Given the description of an element on the screen output the (x, y) to click on. 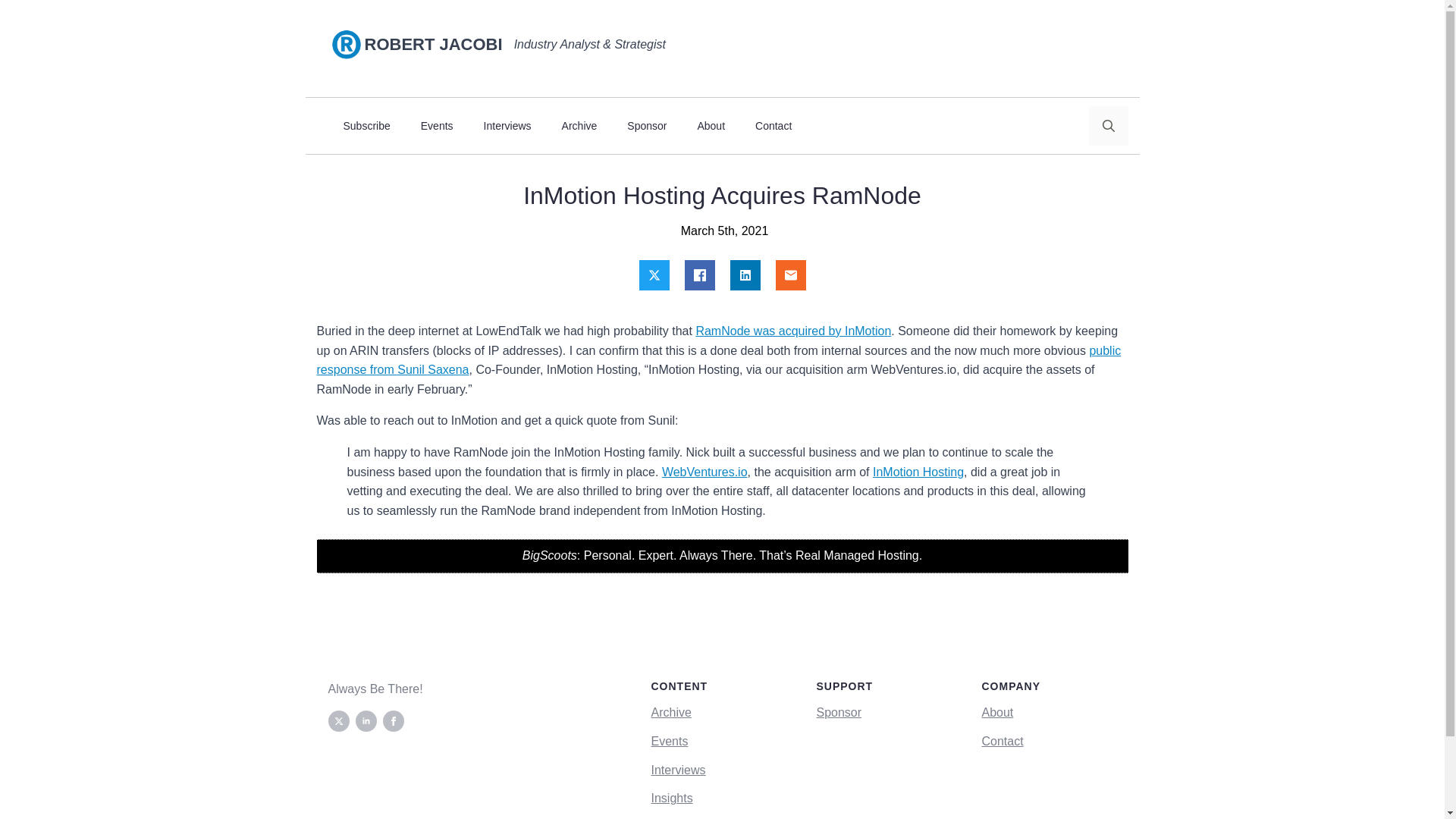
Events (437, 125)
Contact (772, 125)
ROBERT JACOBI (438, 44)
Contact (1002, 741)
About (710, 125)
Interviews (507, 125)
Sponsor (646, 125)
WebVentures.io (705, 472)
InMotion Hosting (917, 472)
About (997, 712)
